Given the description of an element on the screen output the (x, y) to click on. 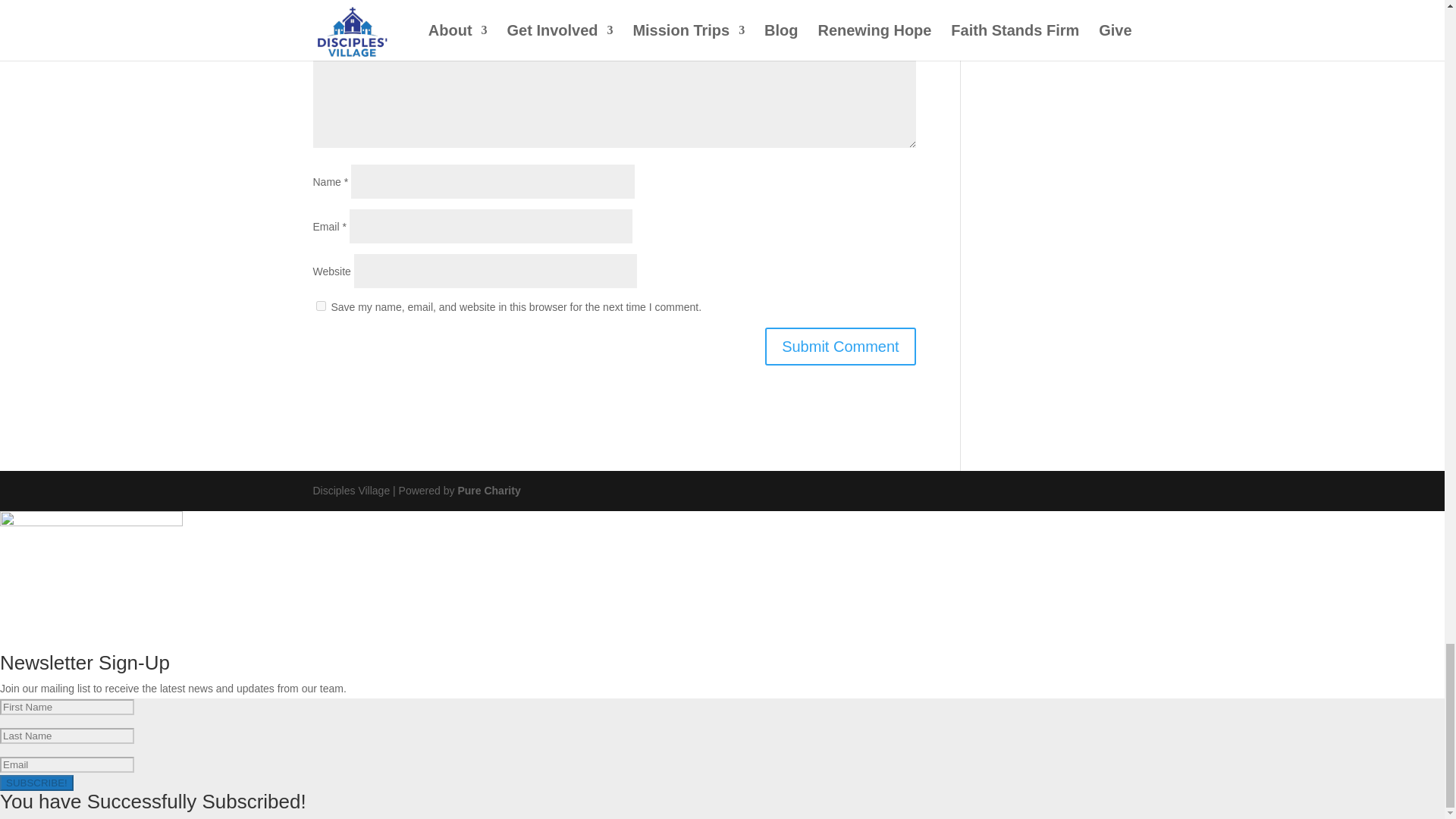
yes (319, 306)
Submit Comment (840, 346)
Submit Comment (840, 346)
